Given the description of an element on the screen output the (x, y) to click on. 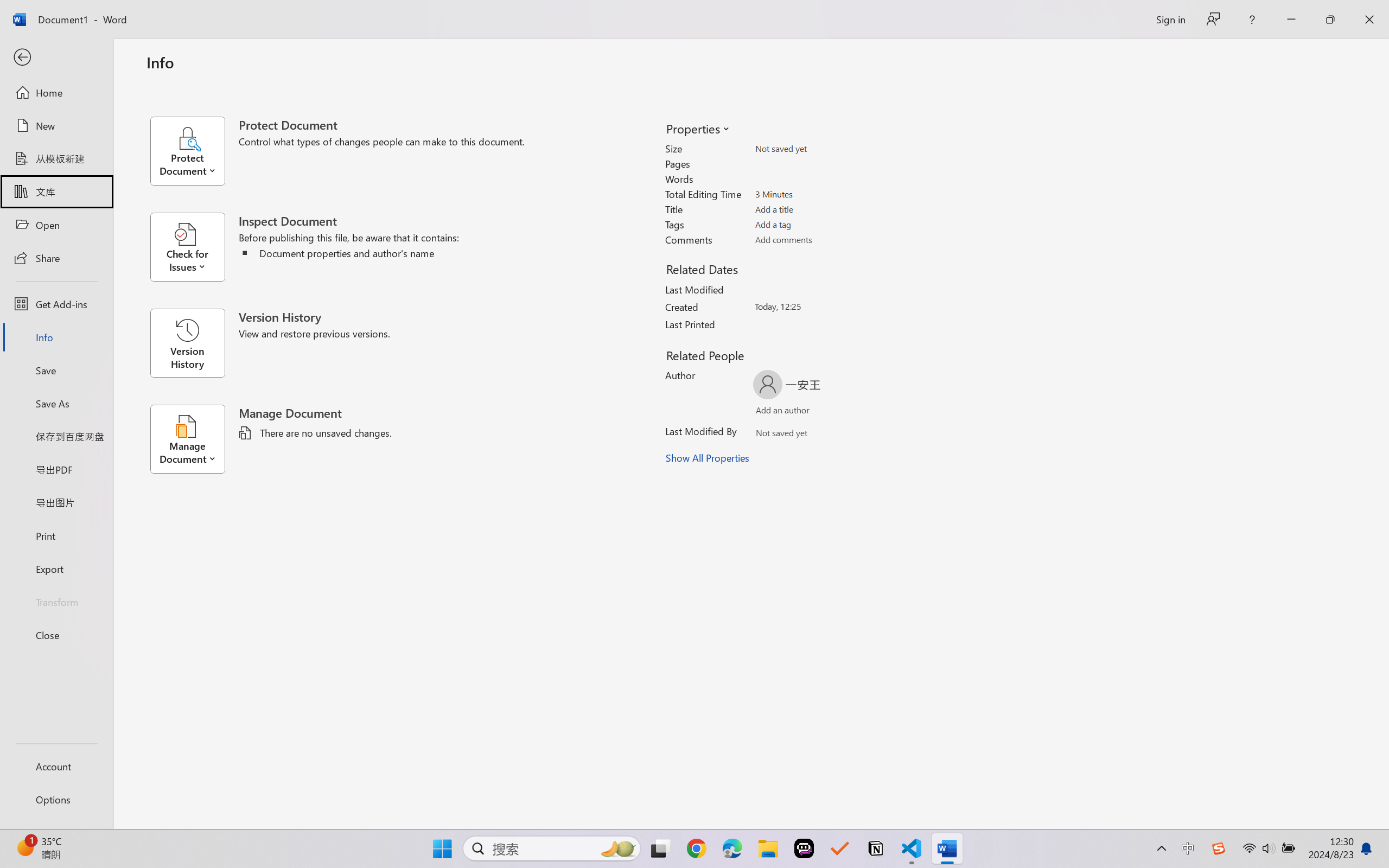
Info (56, 337)
Protect Document (194, 150)
Browse Address Book (852, 435)
Words (818, 178)
Transform (56, 601)
Pages (818, 163)
Tags (818, 223)
New (56, 125)
Check for Issues (194, 246)
Options (56, 798)
